Given the description of an element on the screen output the (x, y) to click on. 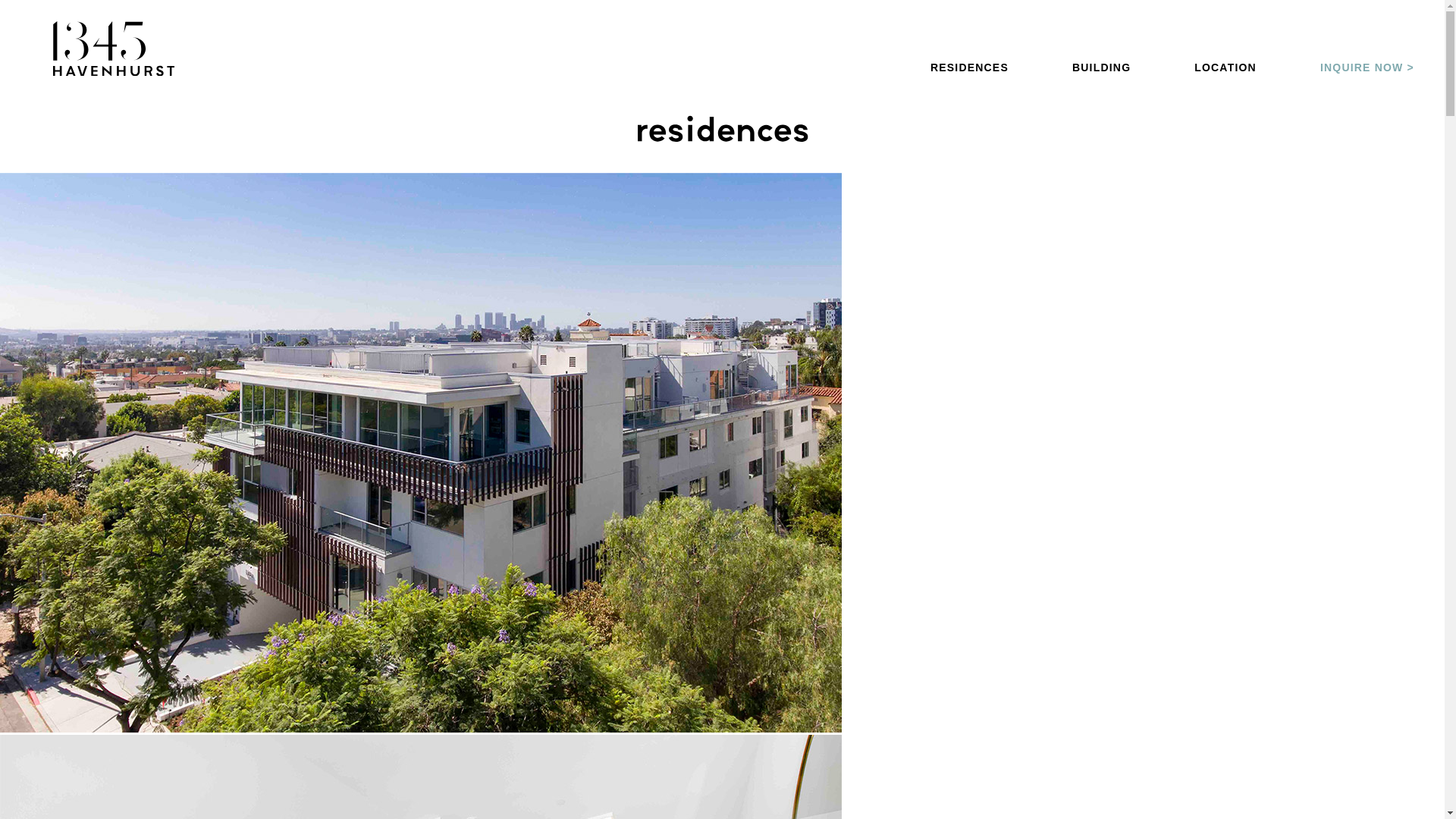
LOCATION Element type: text (1225, 67)
RESIDENCES Element type: text (969, 67)
BUILDING Element type: text (1101, 67)
INQUIRE NOW > Element type: text (1367, 67)
